Given the description of an element on the screen output the (x, y) to click on. 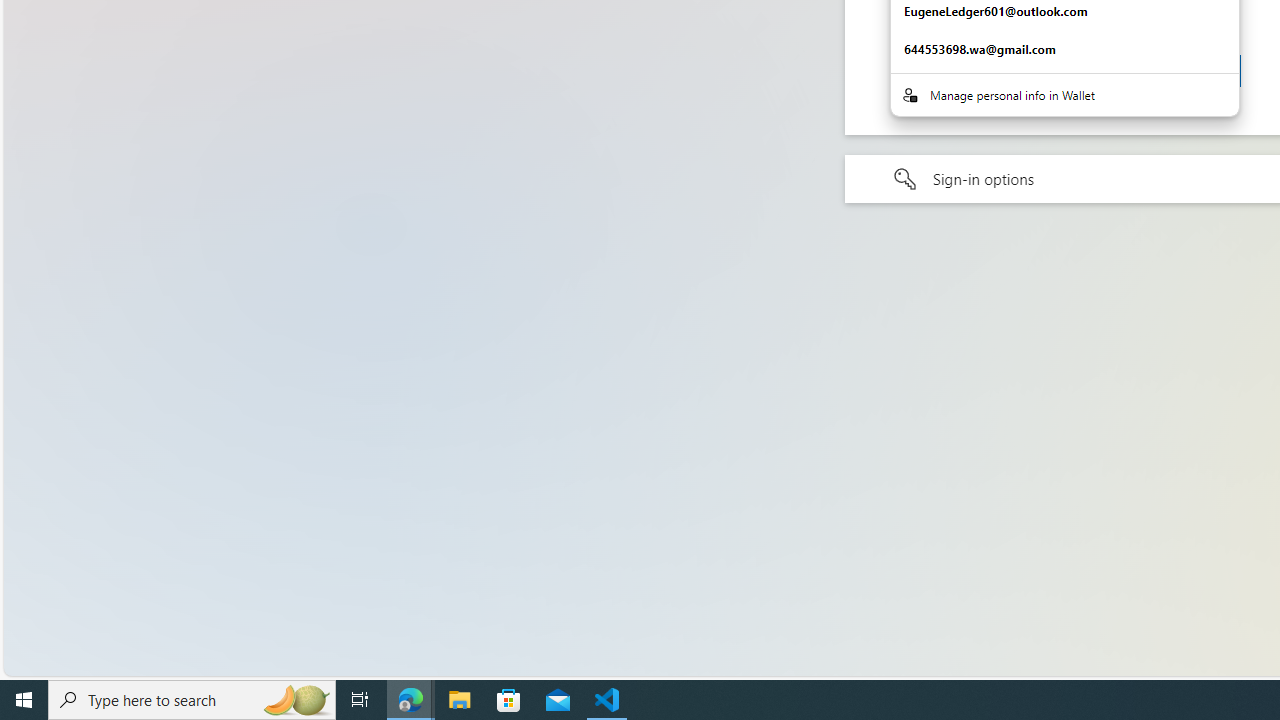
644553698.wa@gmail.com. :Basic info suggestion. (1064, 49)
Manage personal info in Wallet (1064, 94)
Next (1186, 70)
